Given the description of an element on the screen output the (x, y) to click on. 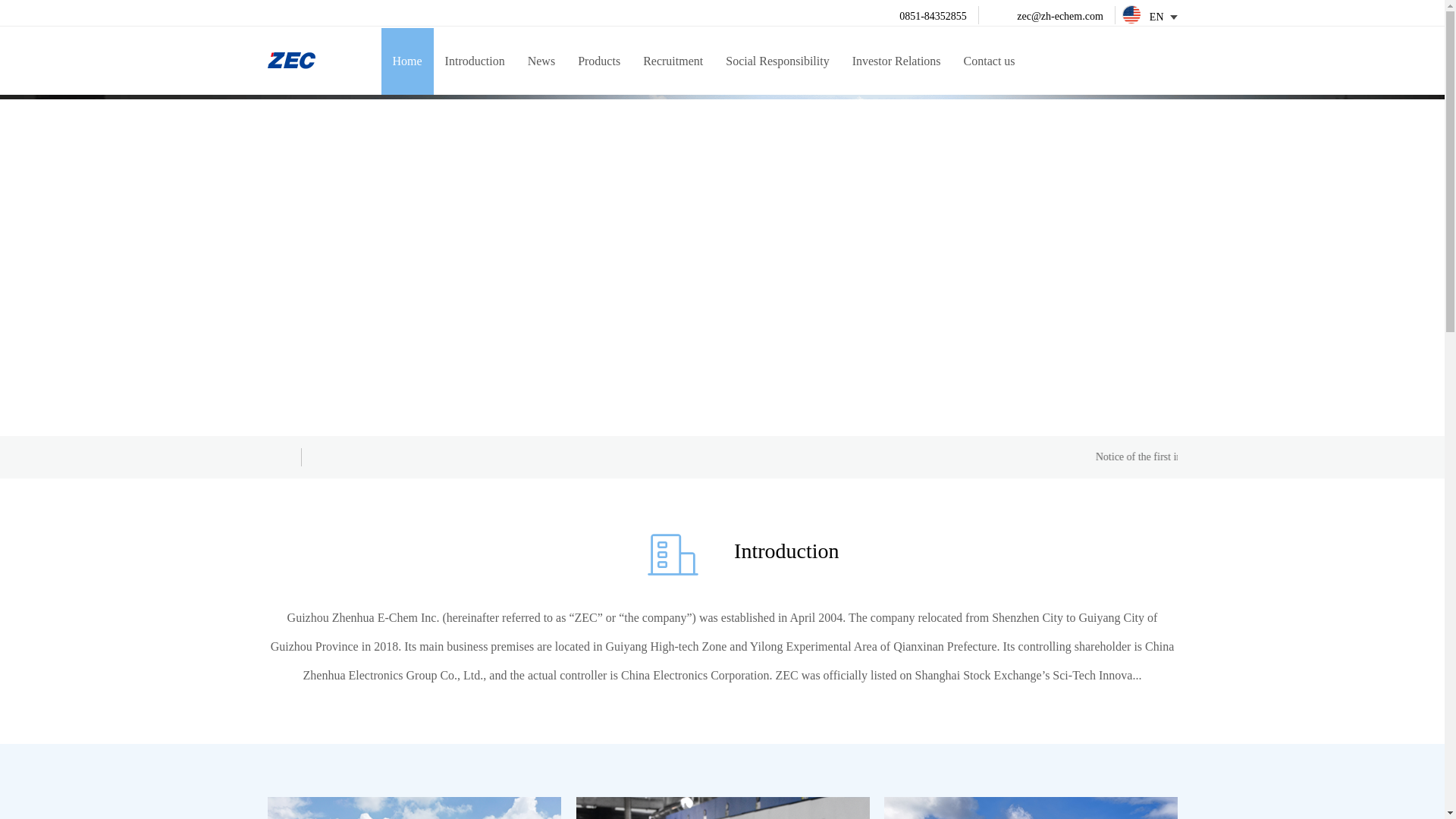
Social Responsibility (777, 61)
Introduction (474, 61)
Contact us (989, 61)
Recruitment (672, 61)
Investor Relations (896, 61)
Products (598, 61)
Introduction (785, 550)
